Given the description of an element on the screen output the (x, y) to click on. 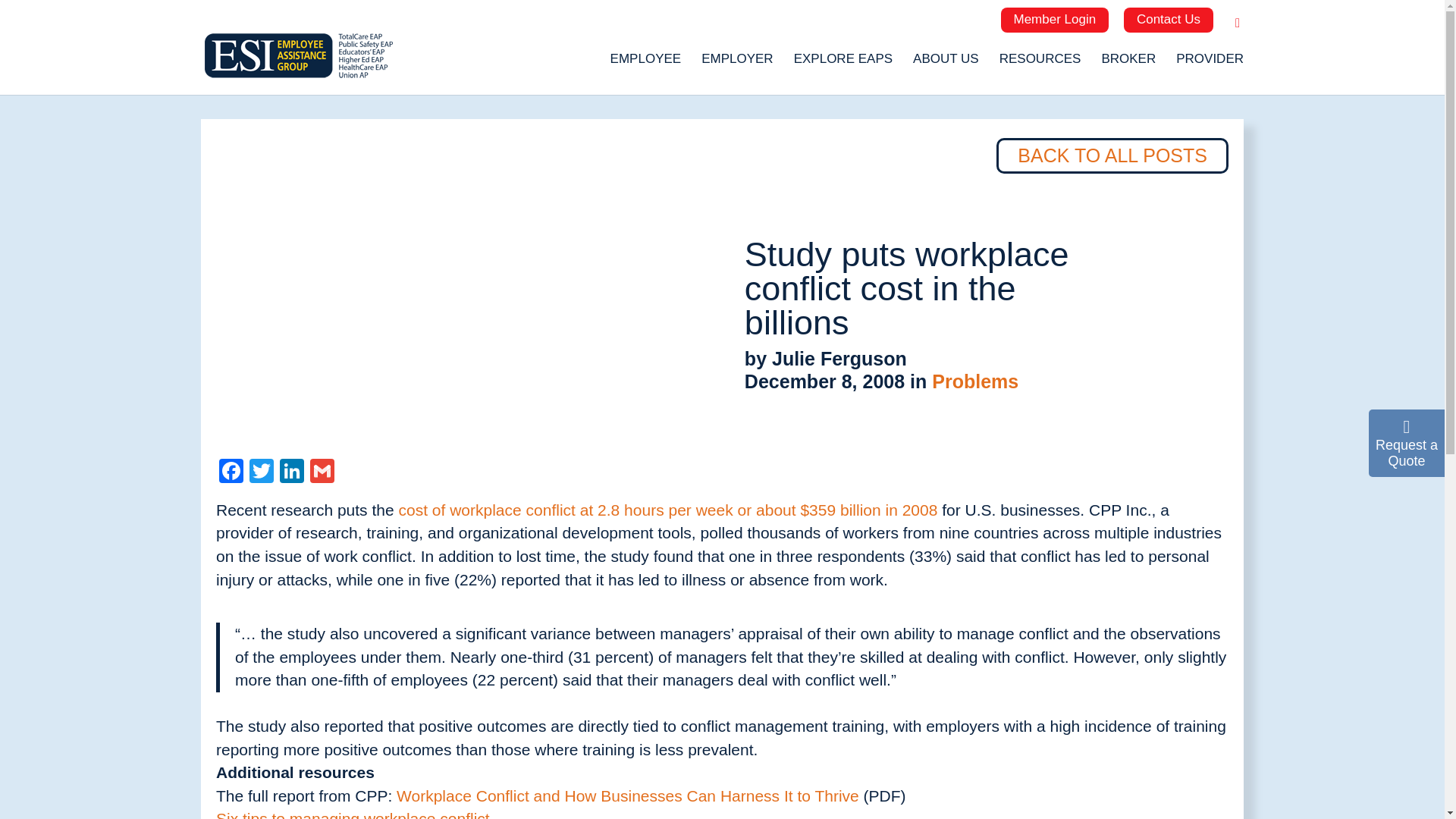
BROKER (1128, 65)
EMPLOYER (737, 65)
PROVIDER (1209, 65)
EMPLOYEE (645, 65)
Contact Us (1168, 19)
ABOUT US (945, 65)
Member Login (1055, 19)
RESOURCES (1039, 65)
EXPLORE EAPS (842, 65)
Twitter (261, 472)
Gmail (322, 472)
LinkedIn (291, 472)
Facebook (230, 472)
